Given the description of an element on the screen output the (x, y) to click on. 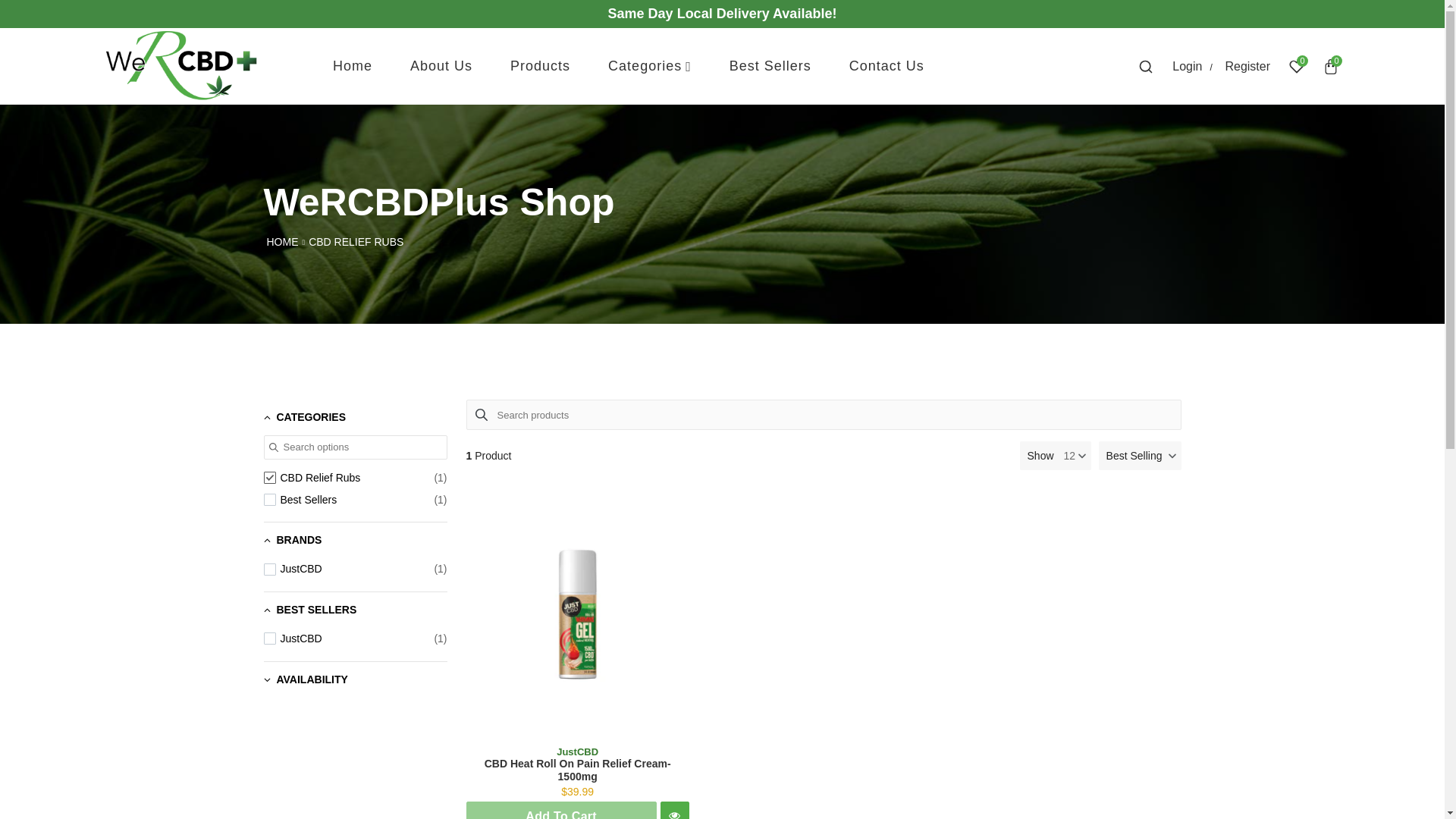
Categories (649, 65)
JustCBD (354, 639)
CBD Relief Rubs (354, 477)
Quick view (674, 810)
Best Sellers (354, 499)
JustCBD (354, 568)
Back to the home page (282, 241)
Wishlist (1296, 66)
